Given the description of an element on the screen output the (x, y) to click on. 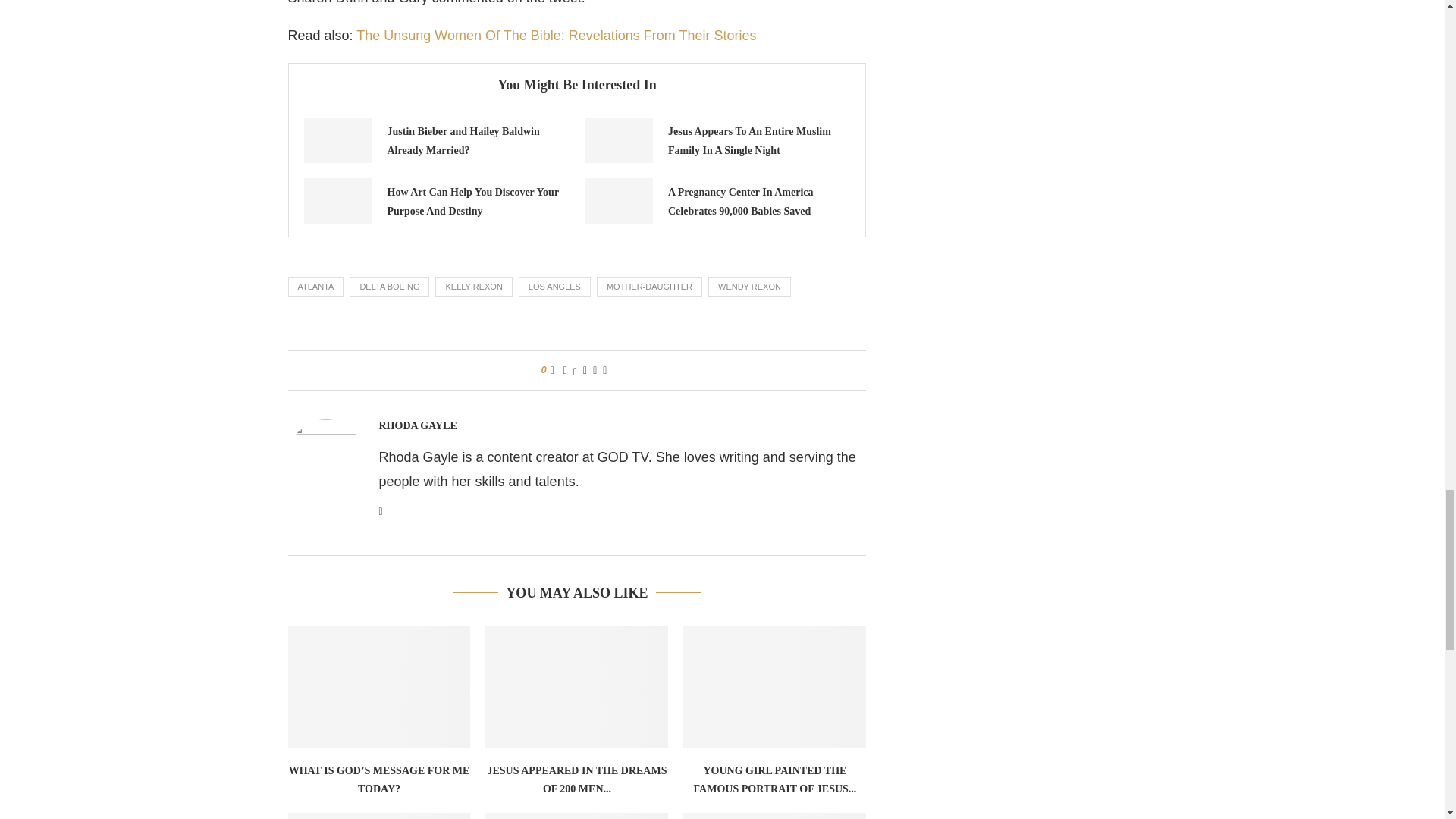
How Art Can Help You Discover Your Purpose And Destiny (472, 201)
A Pregnancy Center In America Celebrates 90,000 Babies Saved (740, 201)
A Pregnancy Center In America Celebrates 90,000 Babies Saved (618, 200)
Jesus Appeared In The Dreams Of 200 Men In Gaza Amid War (576, 687)
Justin Bieber and Hailey Baldwin Already Married? (336, 139)
Jesus Appears To An Entire Muslim Family In A Single Night (618, 139)
Father of Mandisa Reveals Truth Behind Her Death (576, 816)
Taya Smith Resigns From Hillsong Church (774, 816)
Author Rhoda Gayle (417, 426)
